Given the description of an element on the screen output the (x, y) to click on. 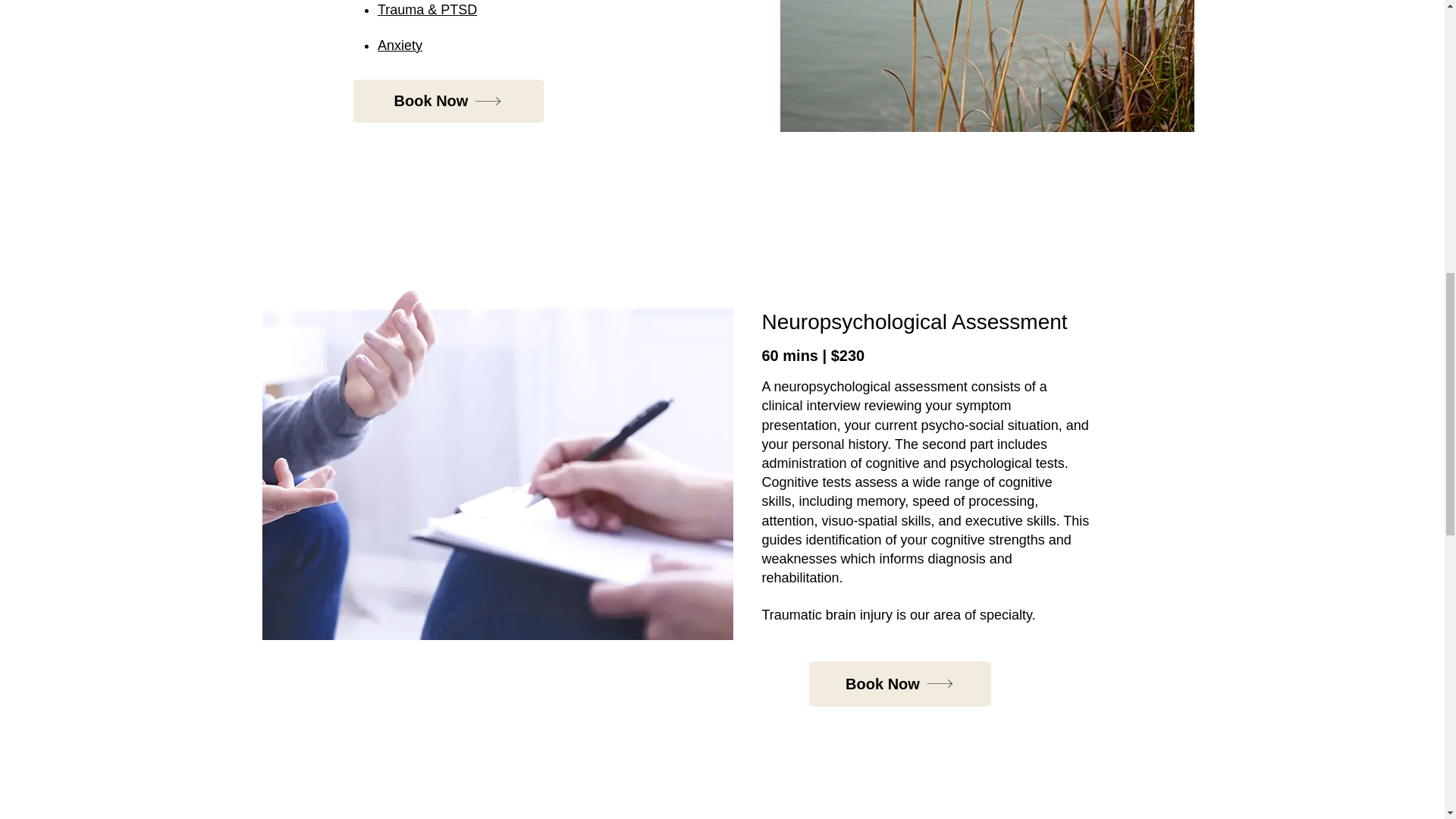
Book Now (899, 683)
Book Now (448, 100)
Anxiety (399, 45)
